Given the description of an element on the screen output the (x, y) to click on. 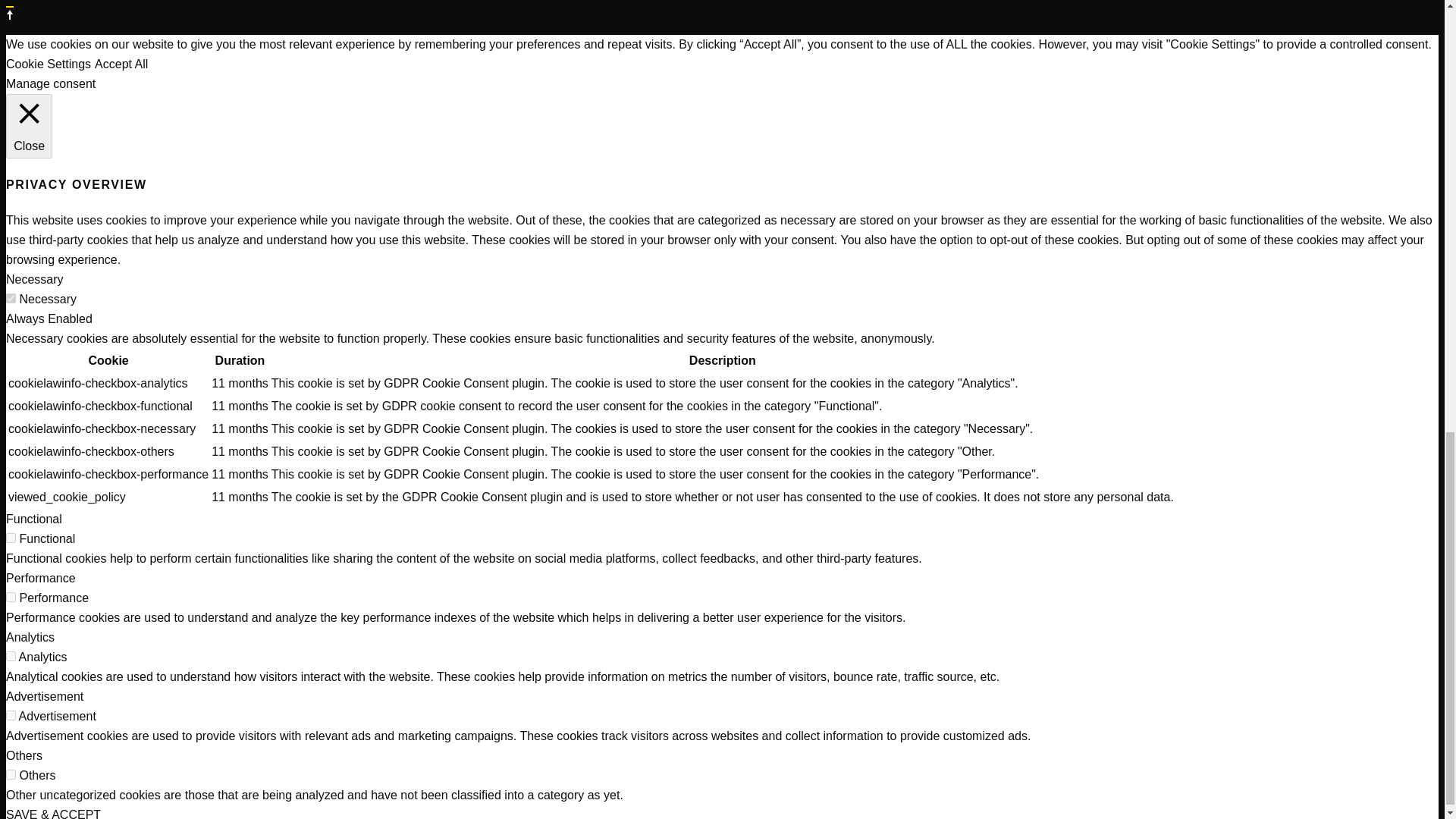
on (10, 596)
Performance (40, 577)
on (10, 715)
Cookie Settings (47, 63)
Functional (33, 518)
on (10, 537)
Accept All (121, 63)
on (10, 774)
Necessary (34, 278)
on (10, 655)
Others (23, 755)
on (10, 298)
Advertisement (43, 696)
Analytics (30, 636)
